Given the description of an element on the screen output the (x, y) to click on. 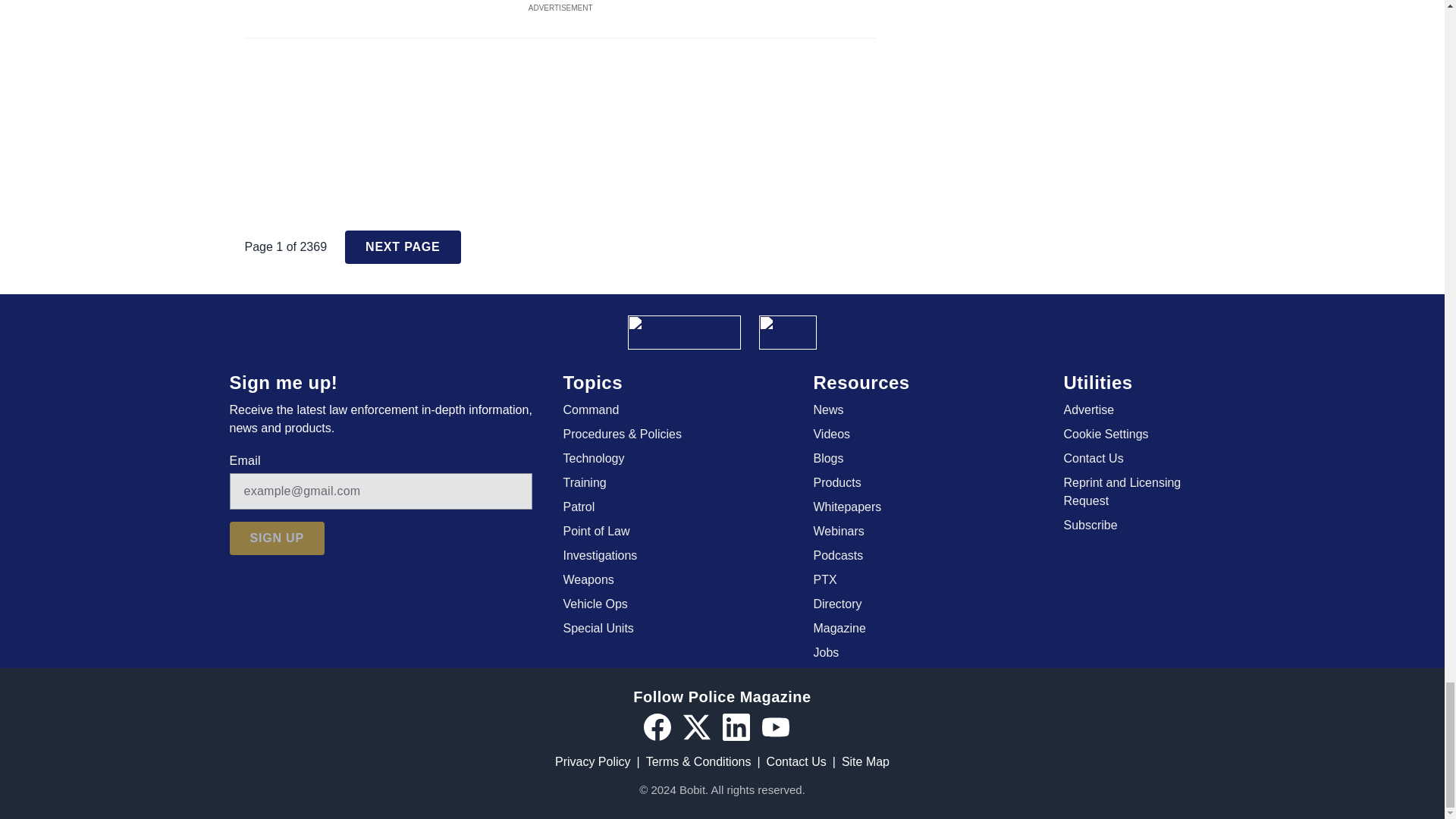
Twitter X icon (696, 727)
LinkedIn icon (735, 727)
YouTube icon (775, 727)
Facebook icon (656, 727)
